Given the description of an element on the screen output the (x, y) to click on. 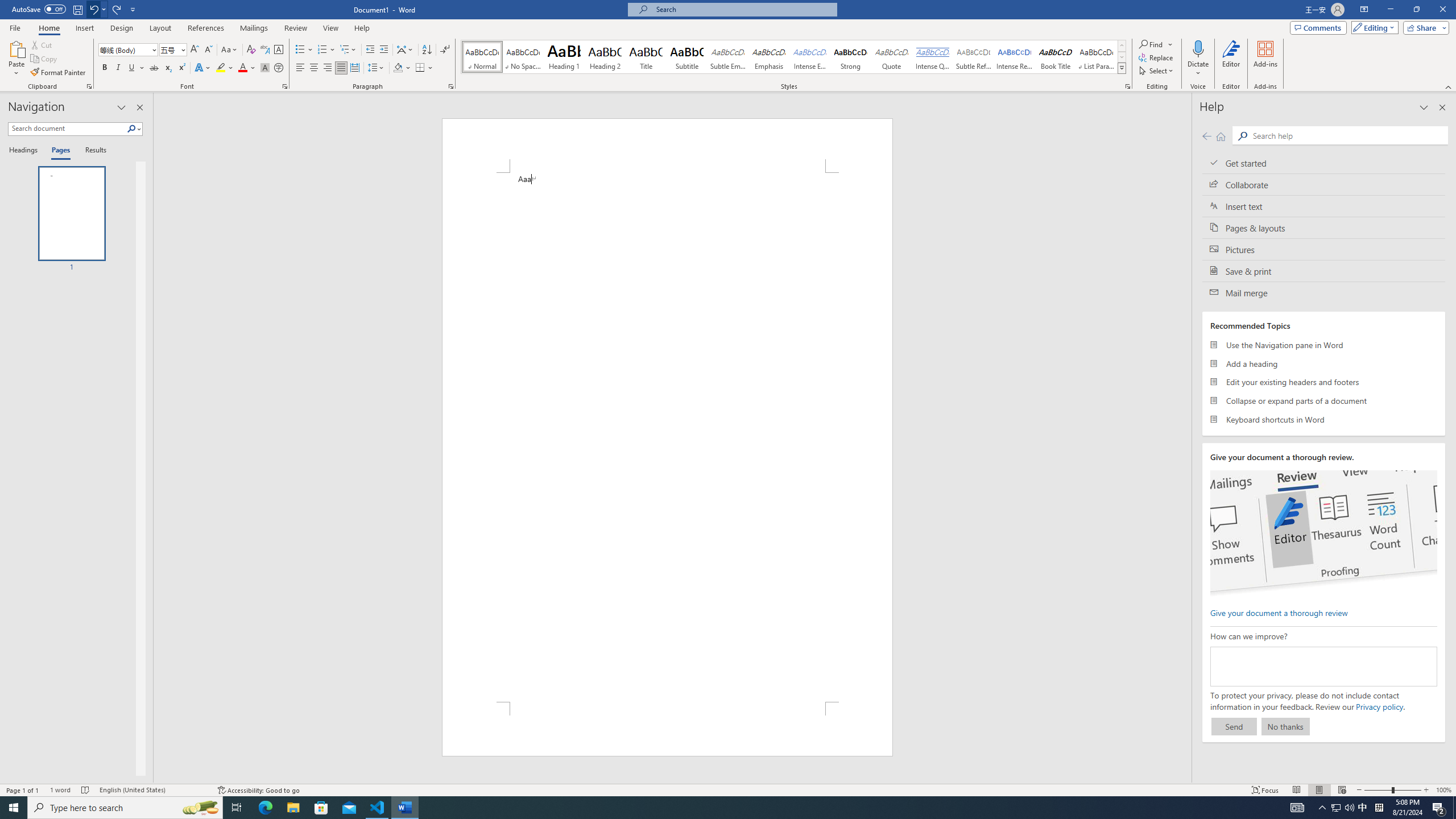
Distributed (354, 67)
Headings (25, 150)
Editor (1231, 58)
Page Number Page 1 of 1 (22, 790)
Heading 2 (605, 56)
Pages & layouts (1323, 228)
Accessibility Checker Accessibility: Good to go (258, 790)
Add a heading (1323, 363)
Collapse or expand parts of a document (1323, 400)
Customize Quick Access Toolbar (133, 9)
Font Color (246, 67)
Class: MsoCommandBar (728, 789)
